Given the description of an element on the screen output the (x, y) to click on. 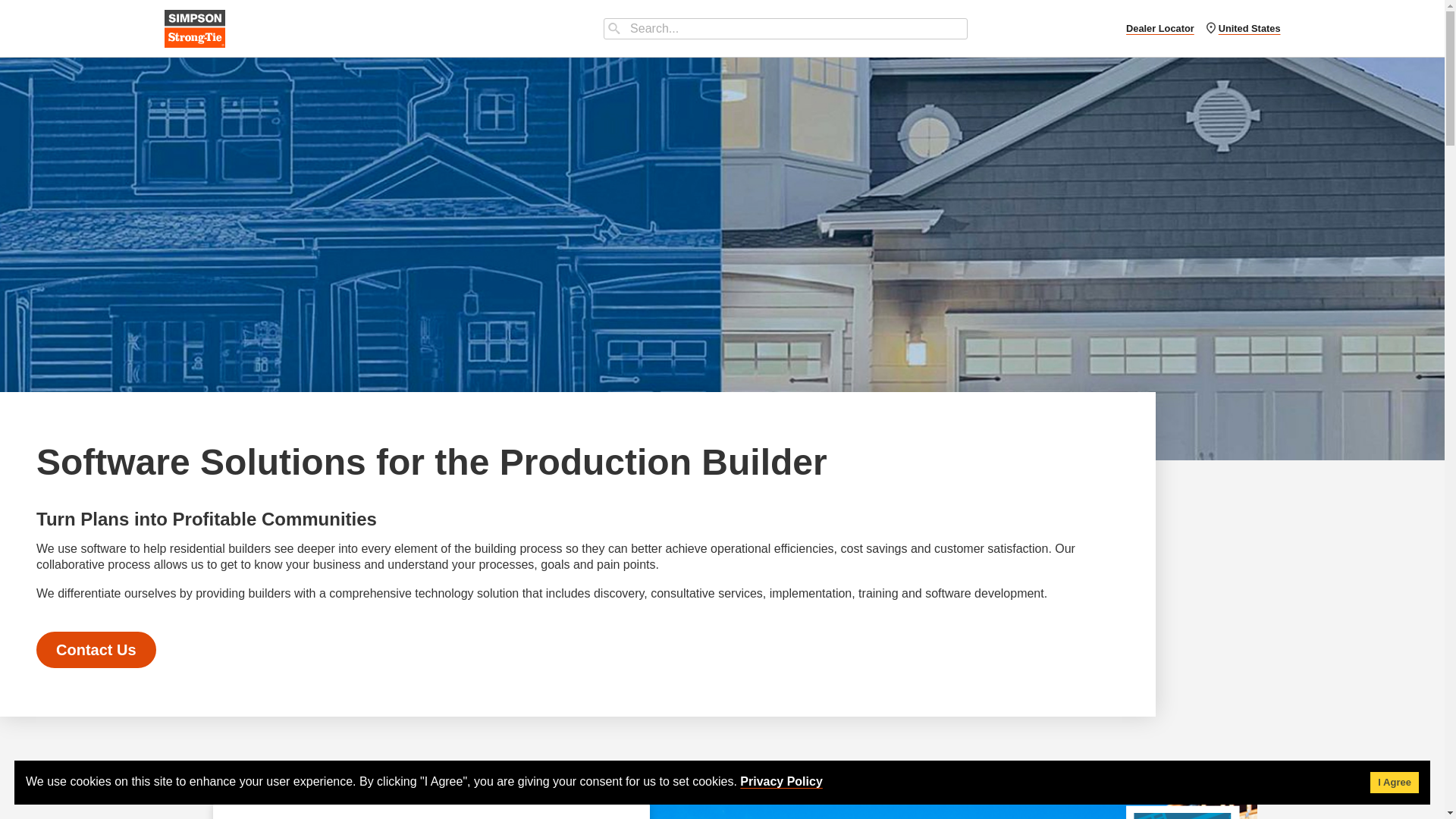
Privacy Policy (780, 780)
United States (1244, 28)
Dealer Locator (1159, 28)
I Agree (1394, 782)
Contact Us (95, 649)
